Given the description of an element on the screen output the (x, y) to click on. 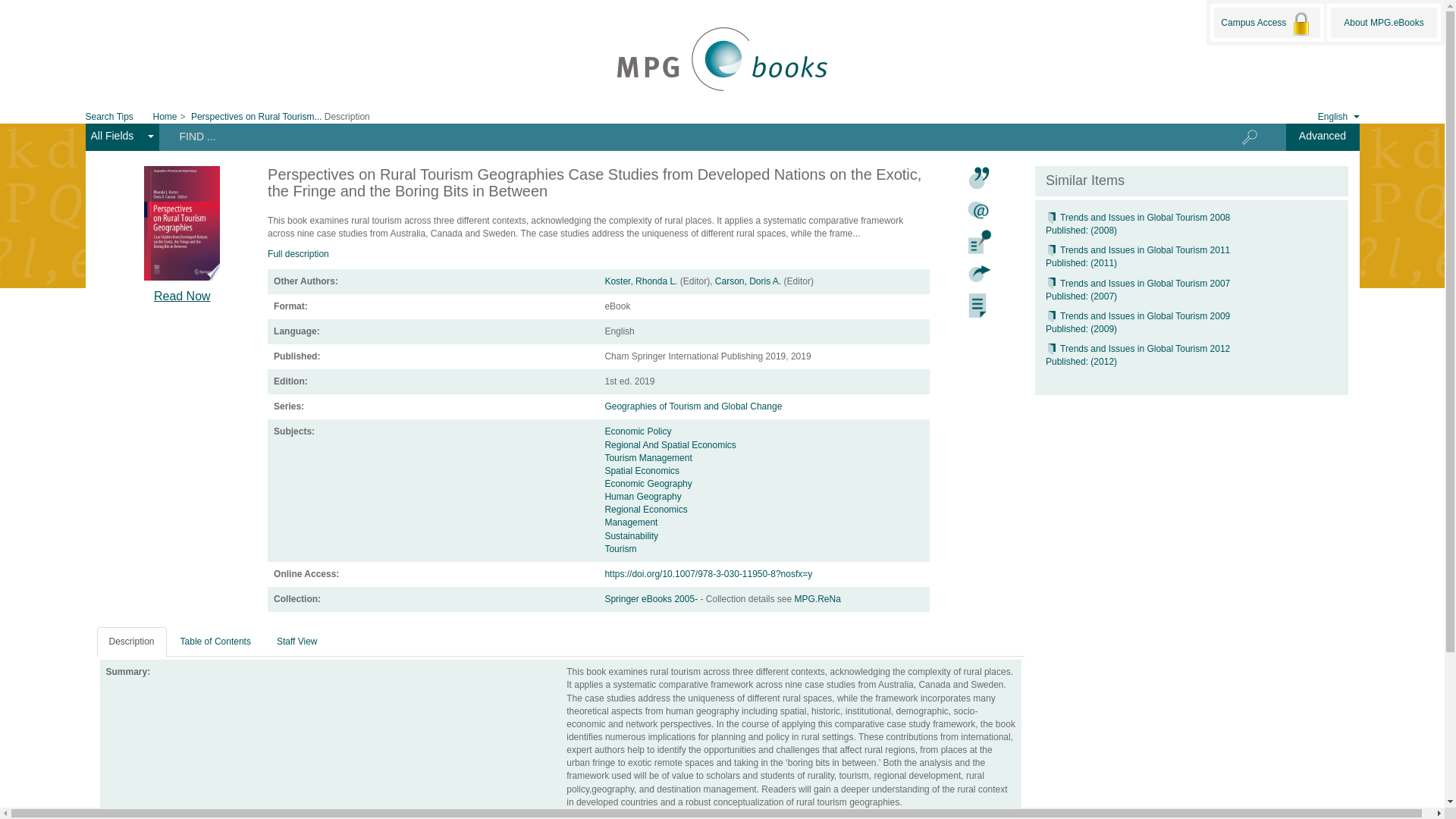
Management (631, 521)
Springer eBooks 2005- (652, 598)
Springer eBooks 2005- (652, 598)
Sustainability (631, 535)
About MPG.eBooks (1383, 22)
MPG.ReNa (817, 598)
Regional And Spatial Economics (669, 444)
English (1326, 116)
Tourism Management (647, 457)
Full description (298, 253)
